Given the description of an element on the screen output the (x, y) to click on. 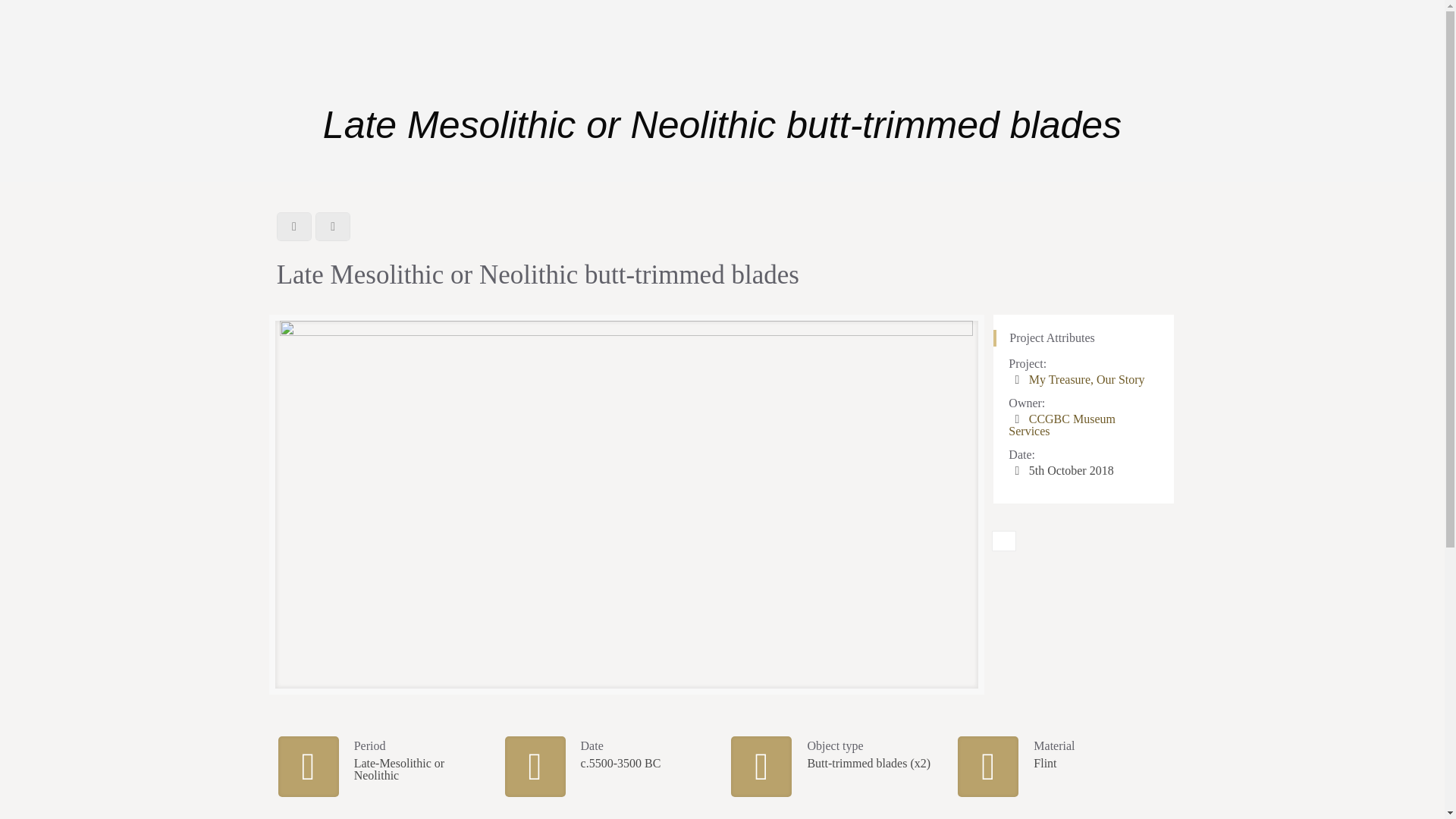
CCGBC Museum Services (1062, 424)
My Treasure, Our Story (1086, 379)
